Given the description of an element on the screen output the (x, y) to click on. 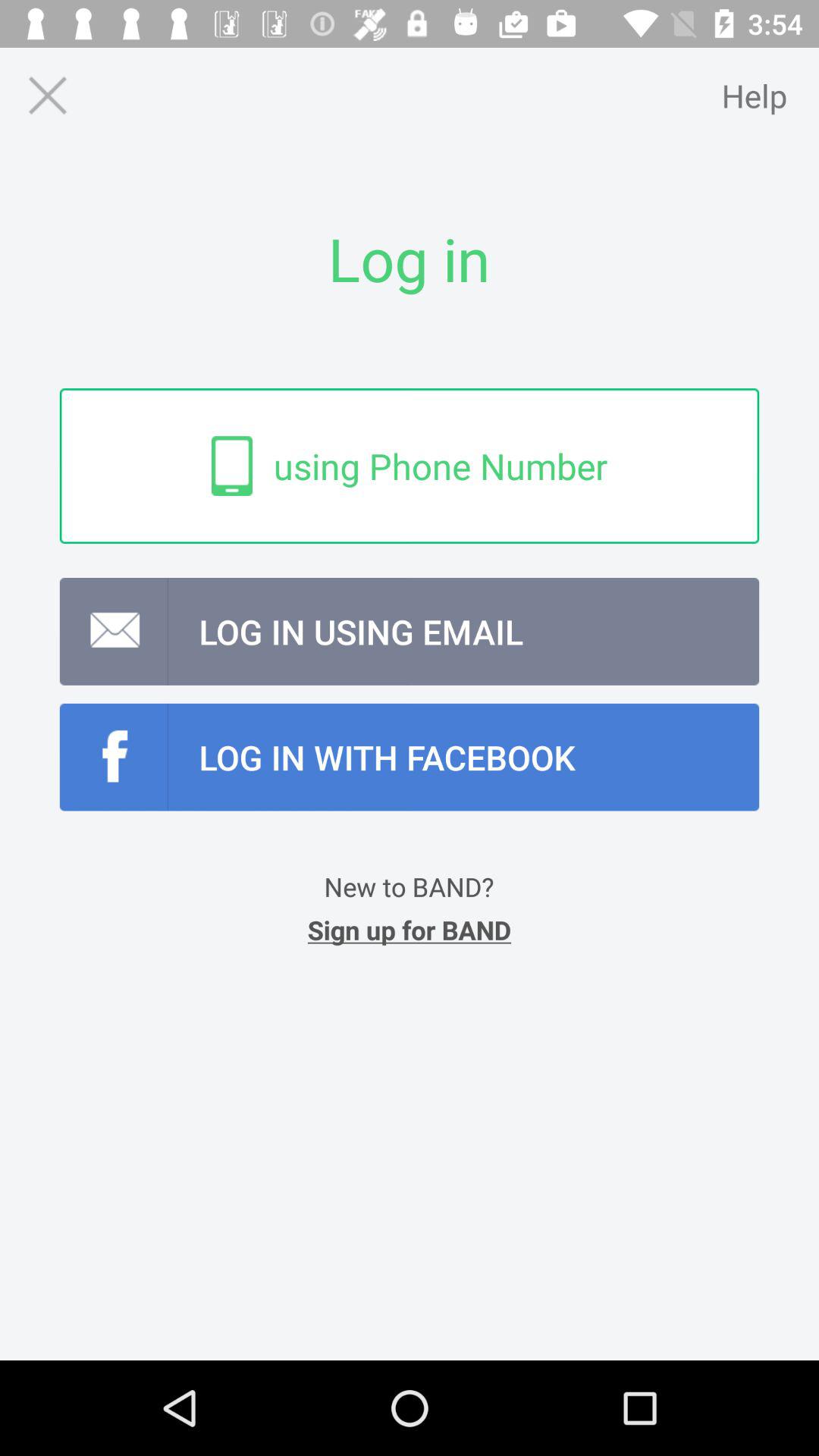
close page (47, 95)
